Given the description of an element on the screen output the (x, y) to click on. 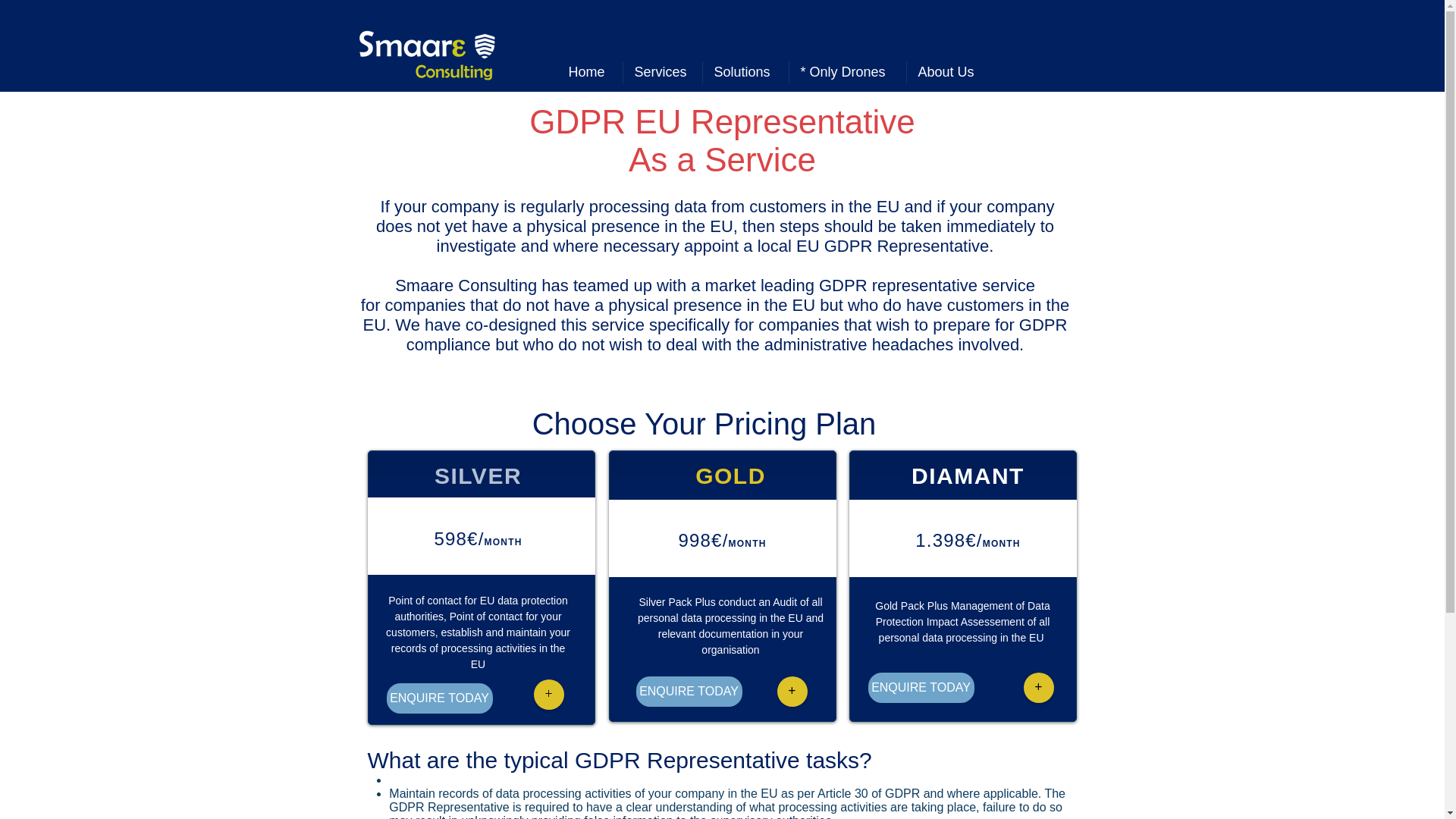
About Us (949, 72)
ENQUIRE TODAY (687, 691)
ENQUIRE TODAY (920, 687)
Services (662, 72)
Solutions (744, 72)
ENQUIRE TODAY (440, 698)
Home (588, 72)
